Given the description of an element on the screen output the (x, y) to click on. 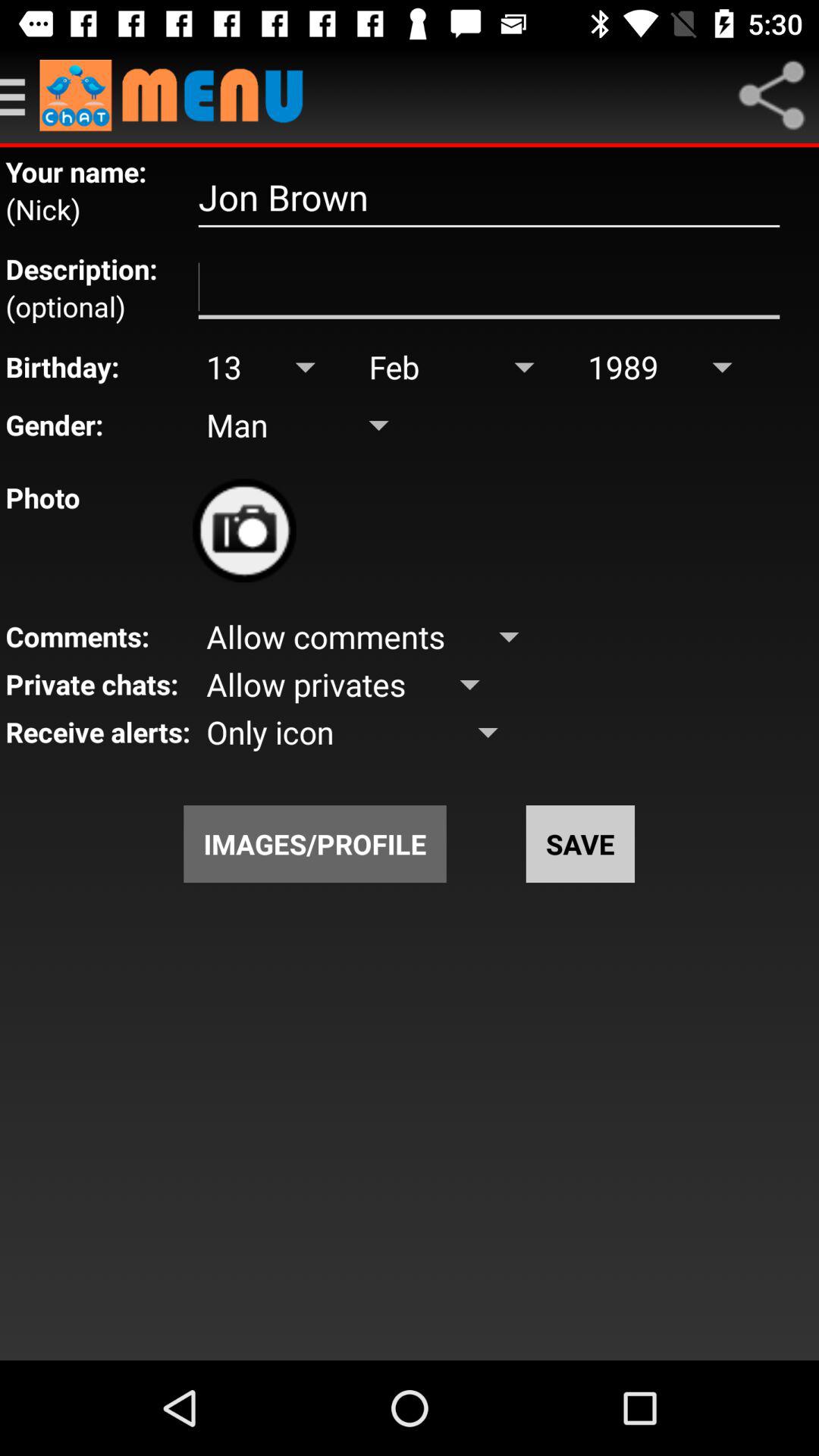
enter description option (488, 287)
